Given the description of an element on the screen output the (x, y) to click on. 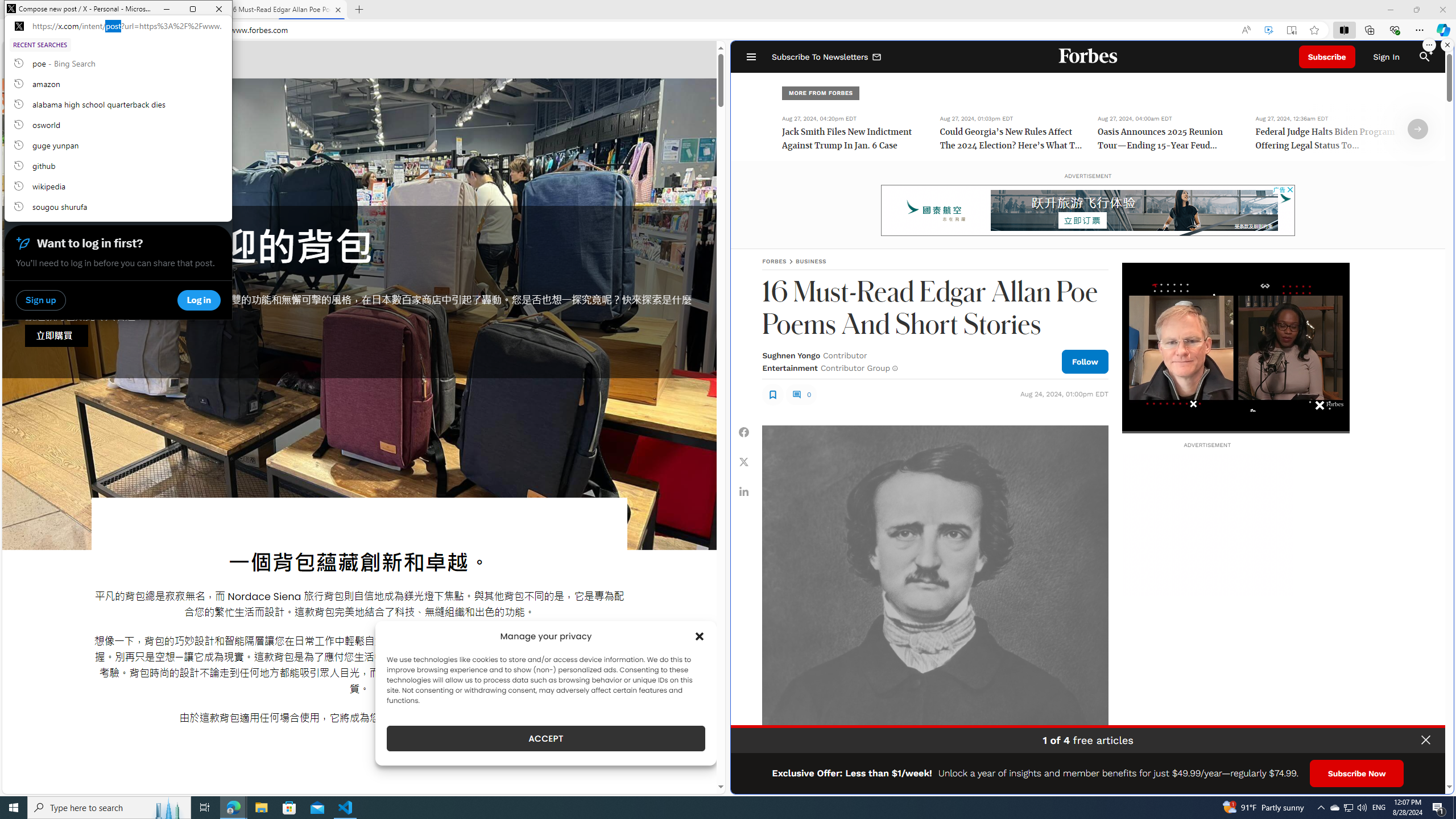
sougou shurufa, recent searches from history (117, 206)
Class: fs-icon fs-icon--comment (796, 394)
Enter Immersive Reader (F9) (1291, 29)
amazon, recent searches from history (117, 83)
Open Navigation Menu (750, 56)
Class: fs-icon fs-icon--linkedin (743, 490)
Task View (204, 807)
Share Linkedin (743, 490)
Class: cmplz-close (699, 636)
Class: fs-icon fs-icon--Facebook (744, 431)
File Explorer (261, 807)
